Given the description of an element on the screen output the (x, y) to click on. 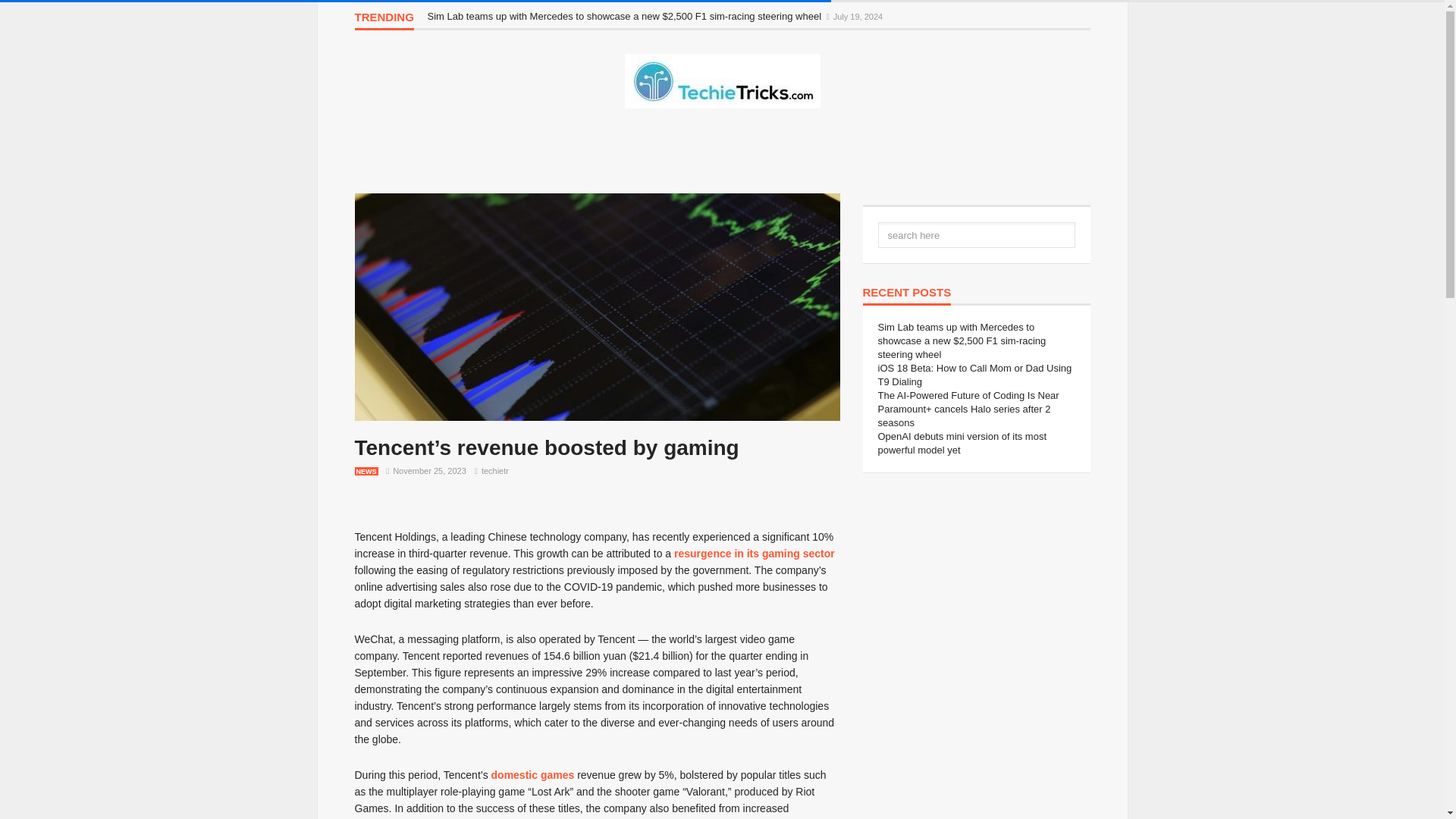
resurgence in its gaming sector (754, 553)
The AI-Powered Future of Coding Is Near (968, 395)
techietr (494, 470)
News (366, 470)
NEWS (366, 470)
OpenAI debuts mini version of its most powerful model yet (961, 442)
TRENDING (384, 20)
domestic games (533, 775)
iOS 18 Beta: How to Call Mom or Dad Using T9 Dialing (974, 374)
